Given the description of an element on the screen output the (x, y) to click on. 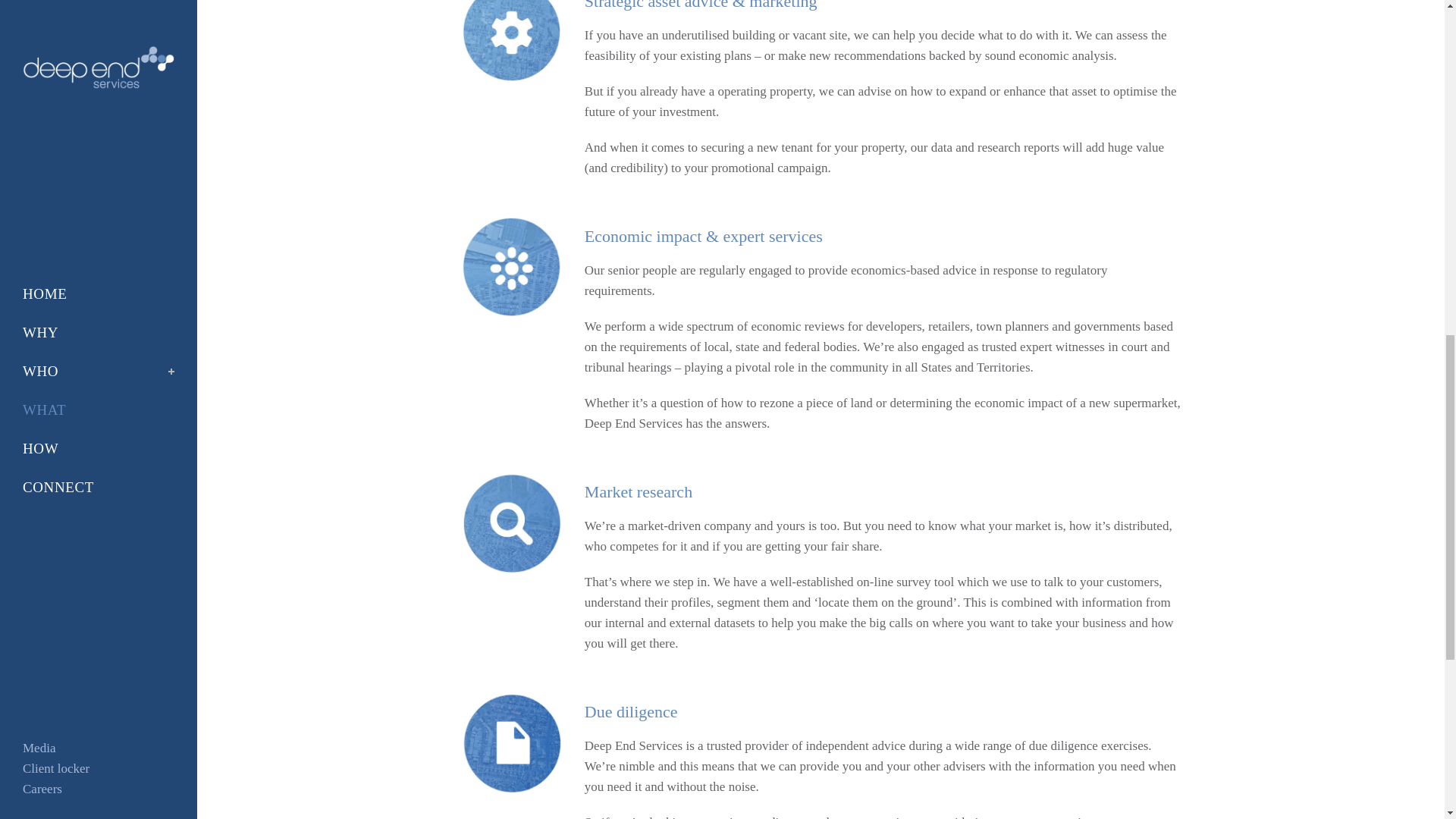
icons-what-06 (511, 742)
icons-what-04 (511, 267)
icons-what-03 (511, 41)
icons-what-05 (511, 522)
